Given the description of an element on the screen output the (x, y) to click on. 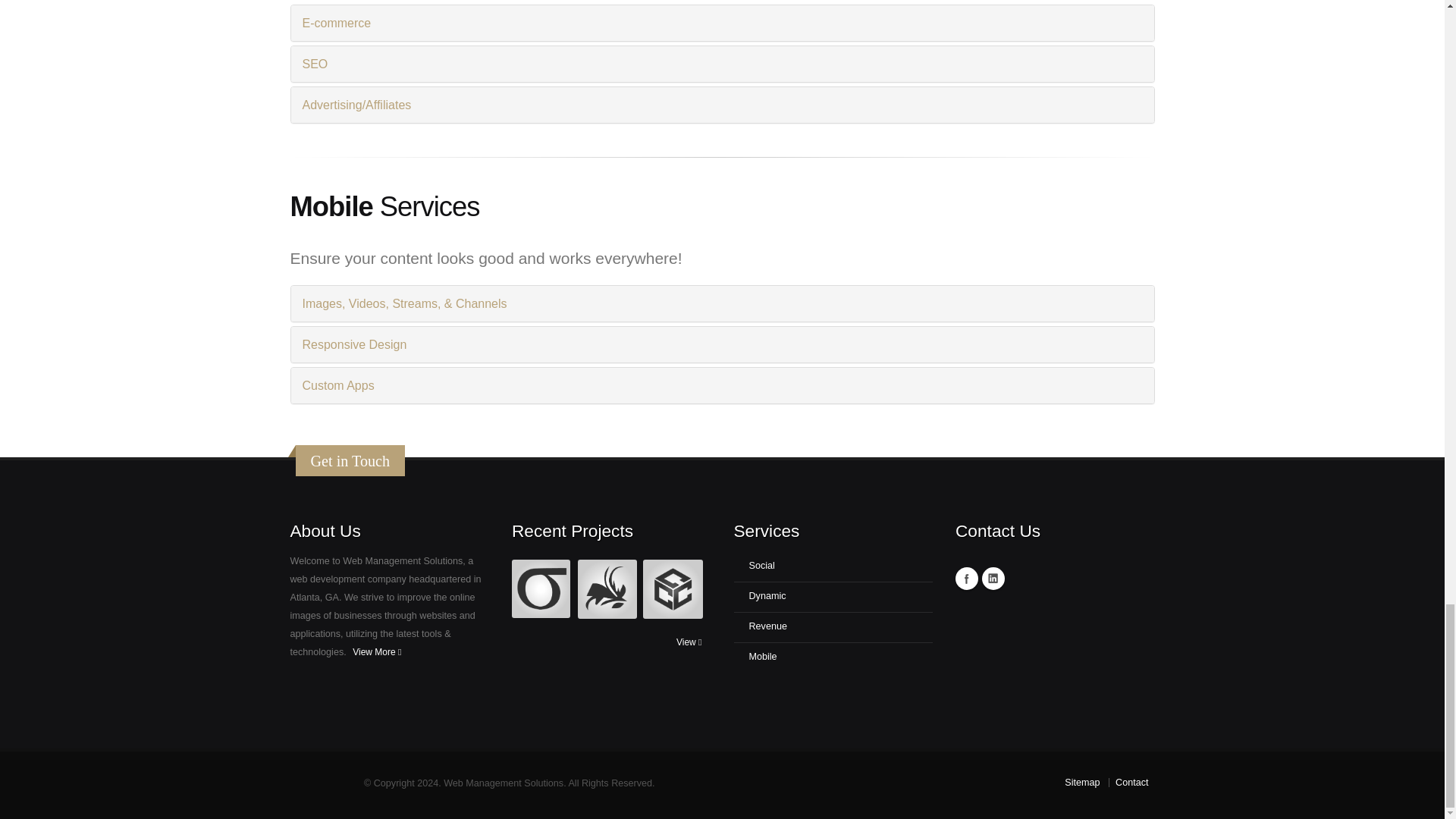
Web Management Solutions LinkedIn Page (992, 578)
Web Management Solutions Facebook Page (966, 578)
Class aptent taciti sociosqu ad litora torquent (833, 627)
Class aptent taciti sociosqu ad litora torquent (833, 657)
Class aptent taciti sociosqu ad litora torquent (833, 567)
Class aptent taciti sociosqu ad litora torquent (833, 597)
